Given the description of an element on the screen output the (x, y) to click on. 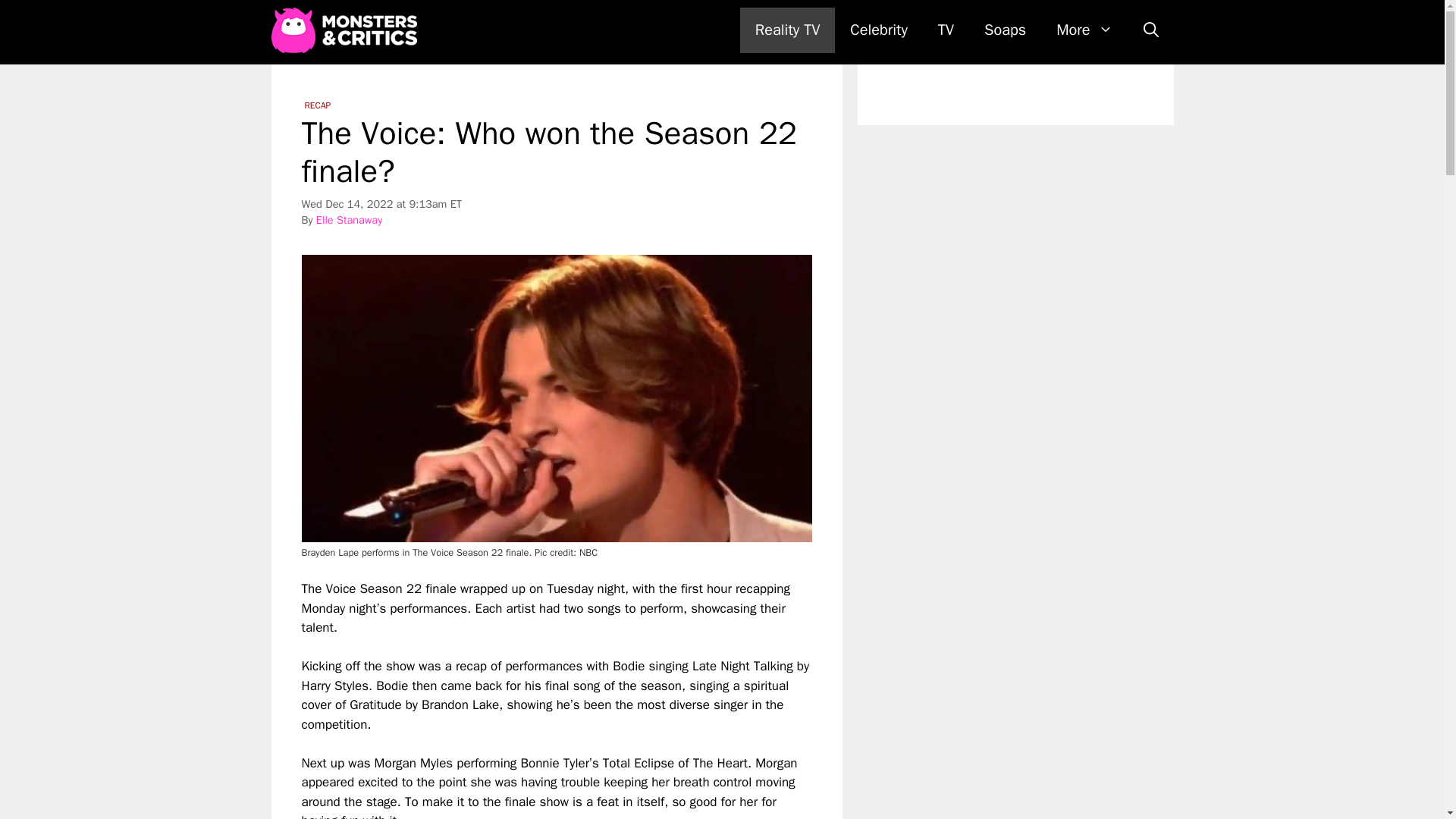
Monsters and Critics (347, 30)
View all posts by Elle Stanaway (348, 219)
Monsters and Critics (343, 30)
Elle Stanaway (348, 219)
Soaps (1005, 30)
TV (946, 30)
Celebrity (877, 30)
Reality TV (787, 30)
More (1083, 30)
